Given the description of an element on the screen output the (x, y) to click on. 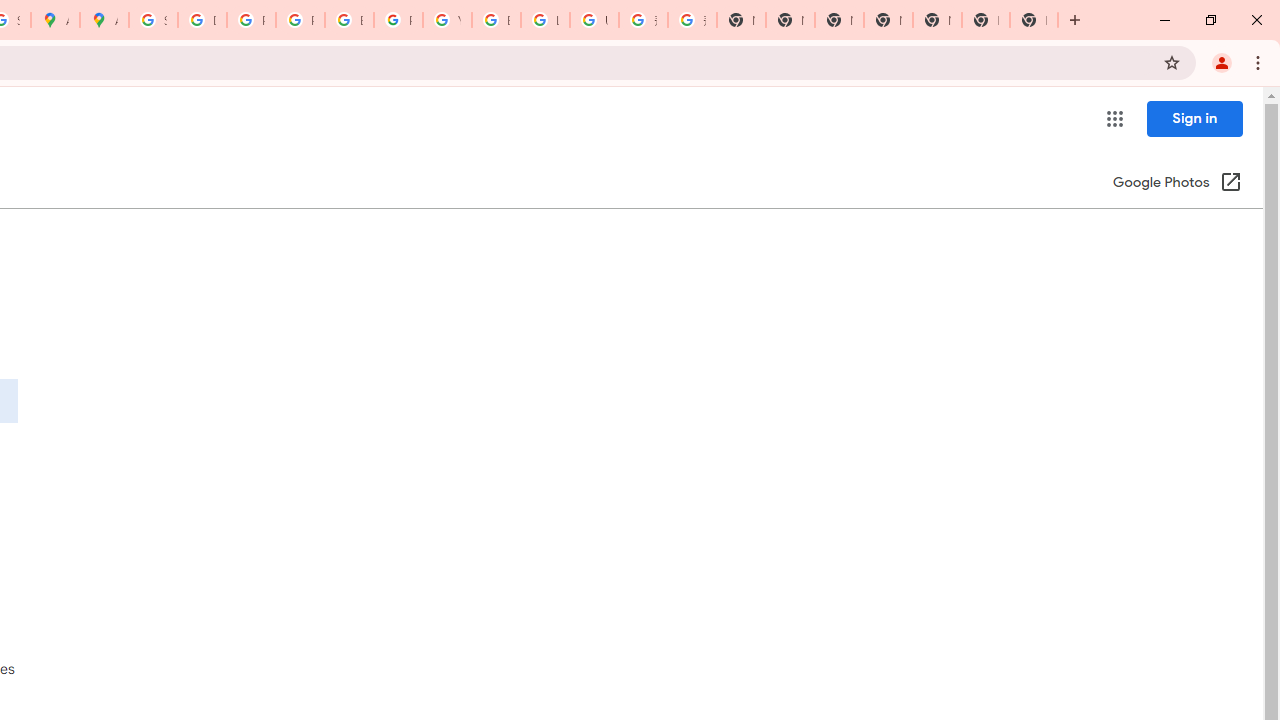
New Tab (1033, 20)
Privacy Help Center - Policies Help (251, 20)
Google Photos (Open in a new window) (1177, 183)
New Tab (985, 20)
